Given the description of an element on the screen output the (x, y) to click on. 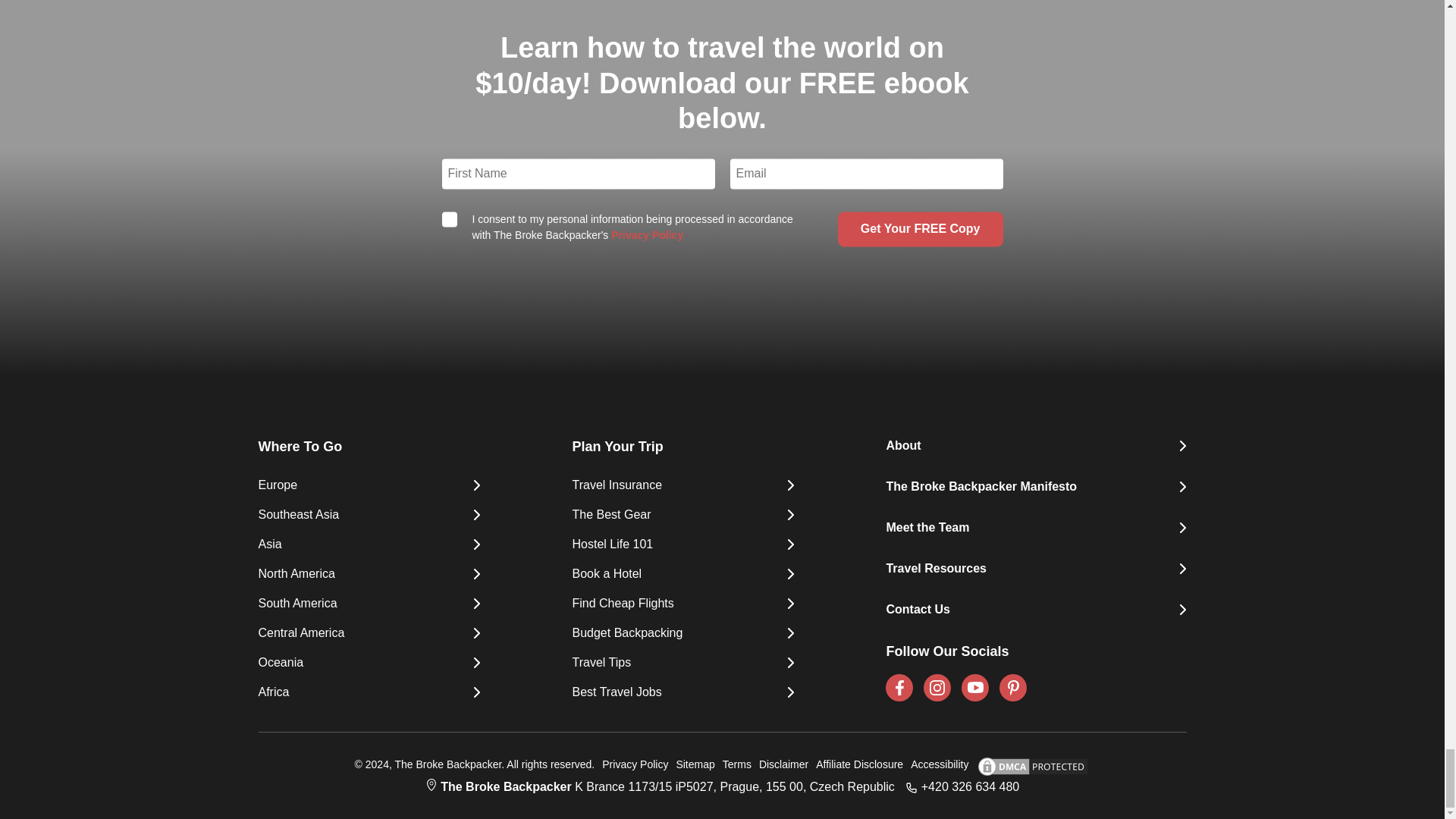
1 (449, 219)
DMCA.com Protection Status (1028, 766)
